Given the description of an element on the screen output the (x, y) to click on. 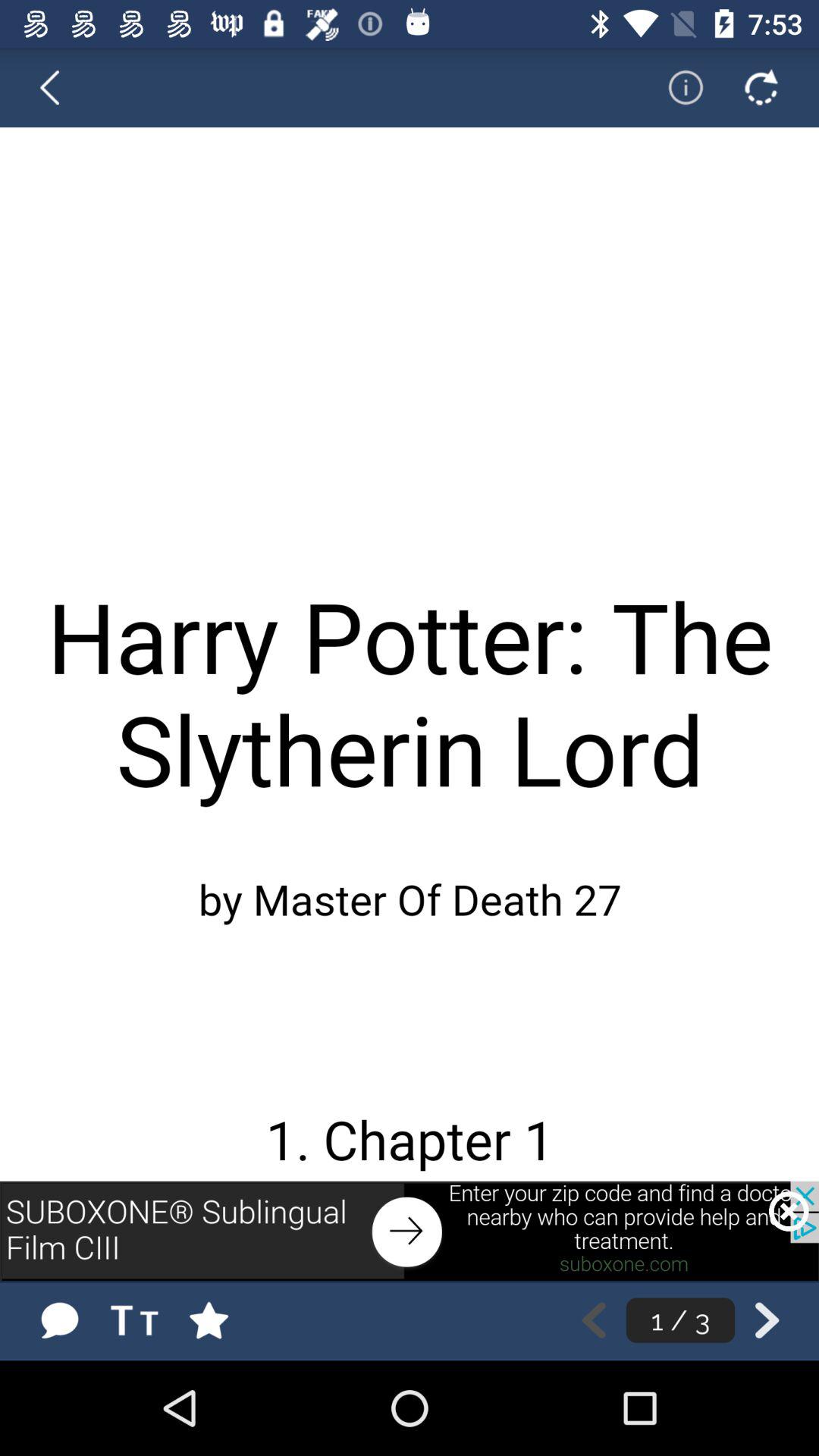
go back (593, 1320)
